Given the description of an element on the screen output the (x, y) to click on. 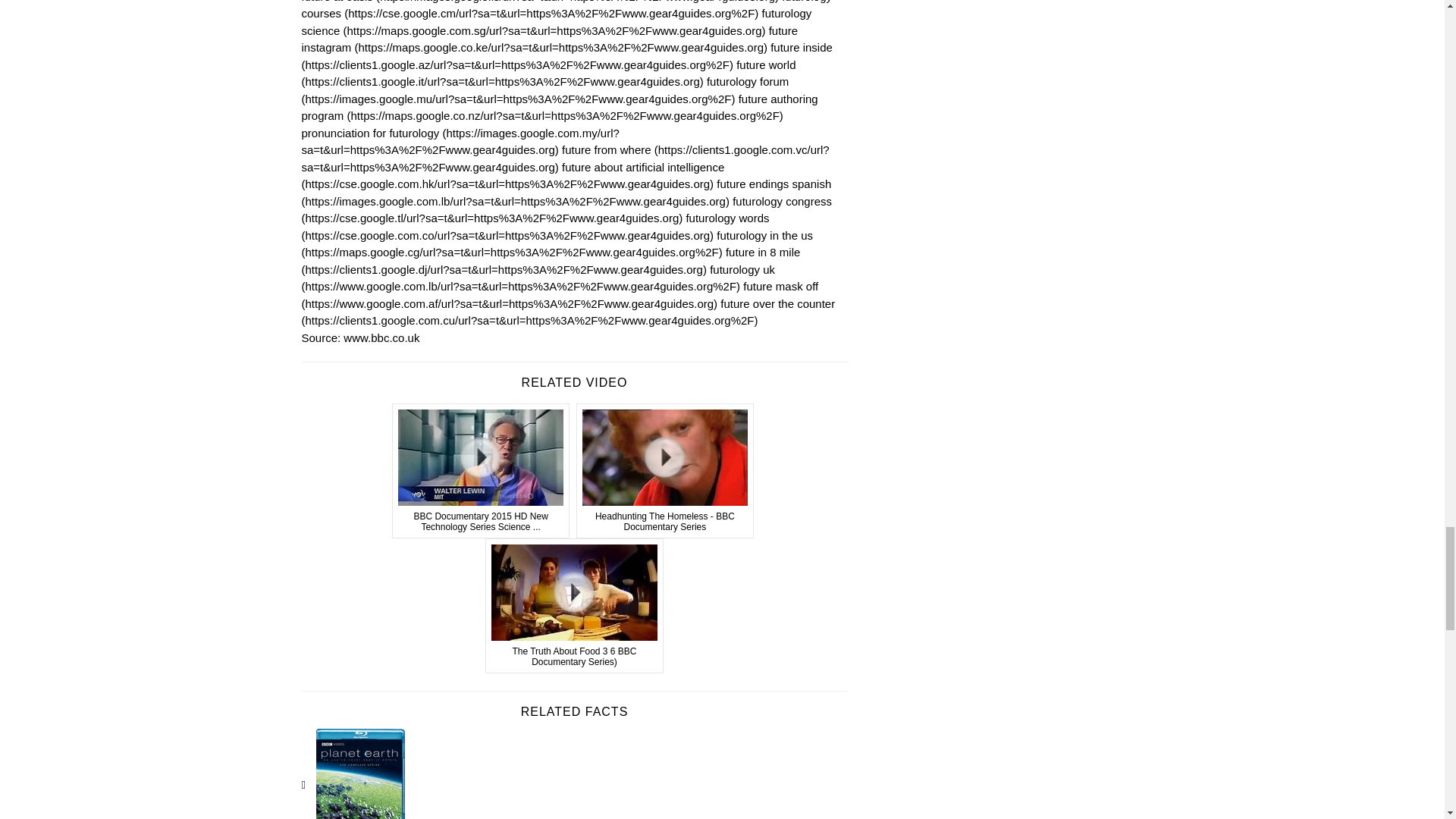
View this video from WN (665, 470)
View this video from YouTube (573, 605)
View this video from YouTube (480, 470)
